Given the description of an element on the screen output the (x, y) to click on. 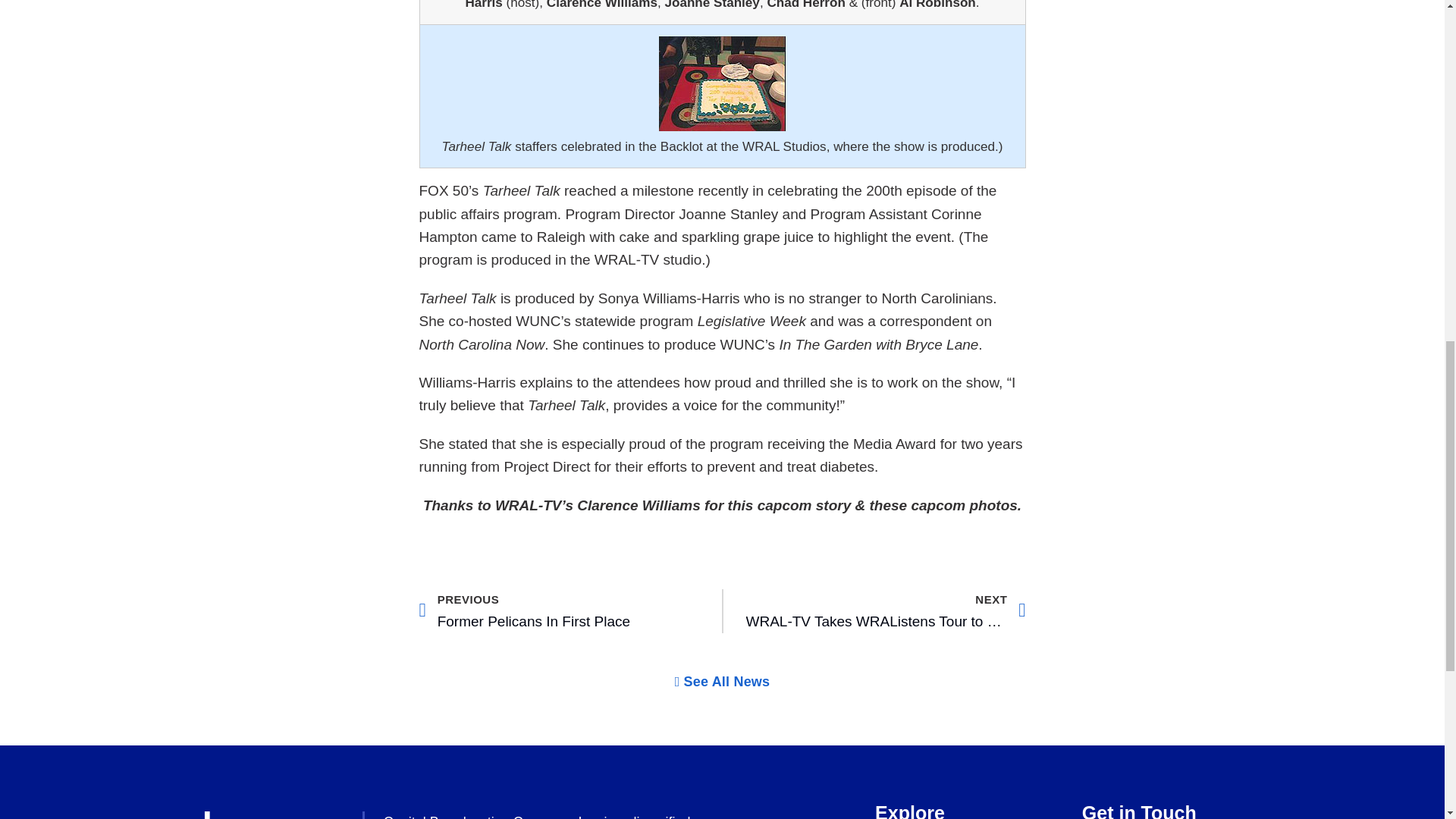
See All News (885, 610)
